Given the description of an element on the screen output the (x, y) to click on. 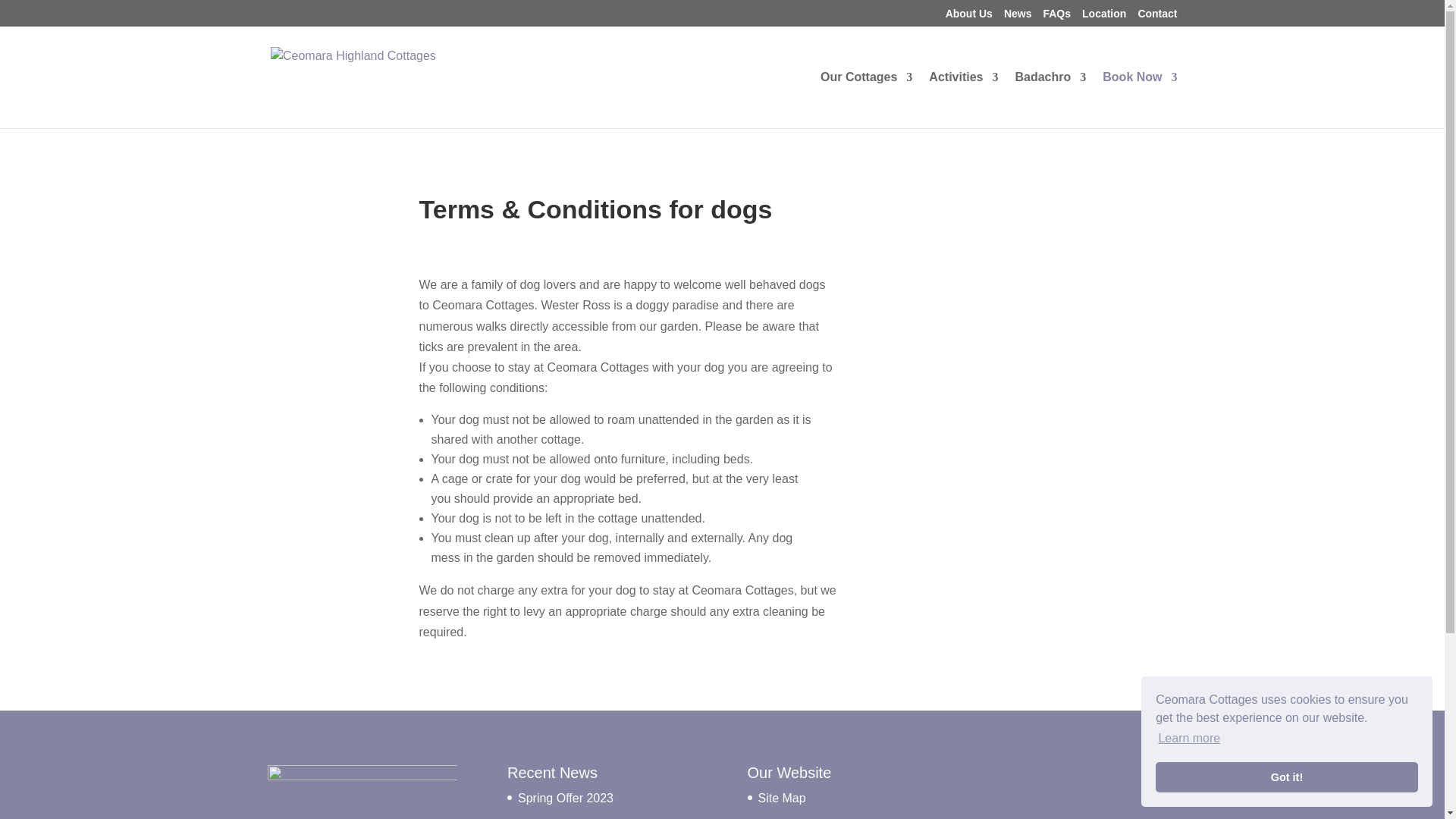
Our Self-Catering Cottages (866, 95)
FAQs (1056, 16)
Location (1103, 16)
Book Now (1139, 95)
Our Cottages (866, 95)
News (1018, 16)
Contact Ceomara Highland Cottages (1156, 16)
Activities (962, 95)
Things to See and Do around Badachro (962, 95)
News from Ceomara (1018, 16)
